Given the description of an element on the screen output the (x, y) to click on. 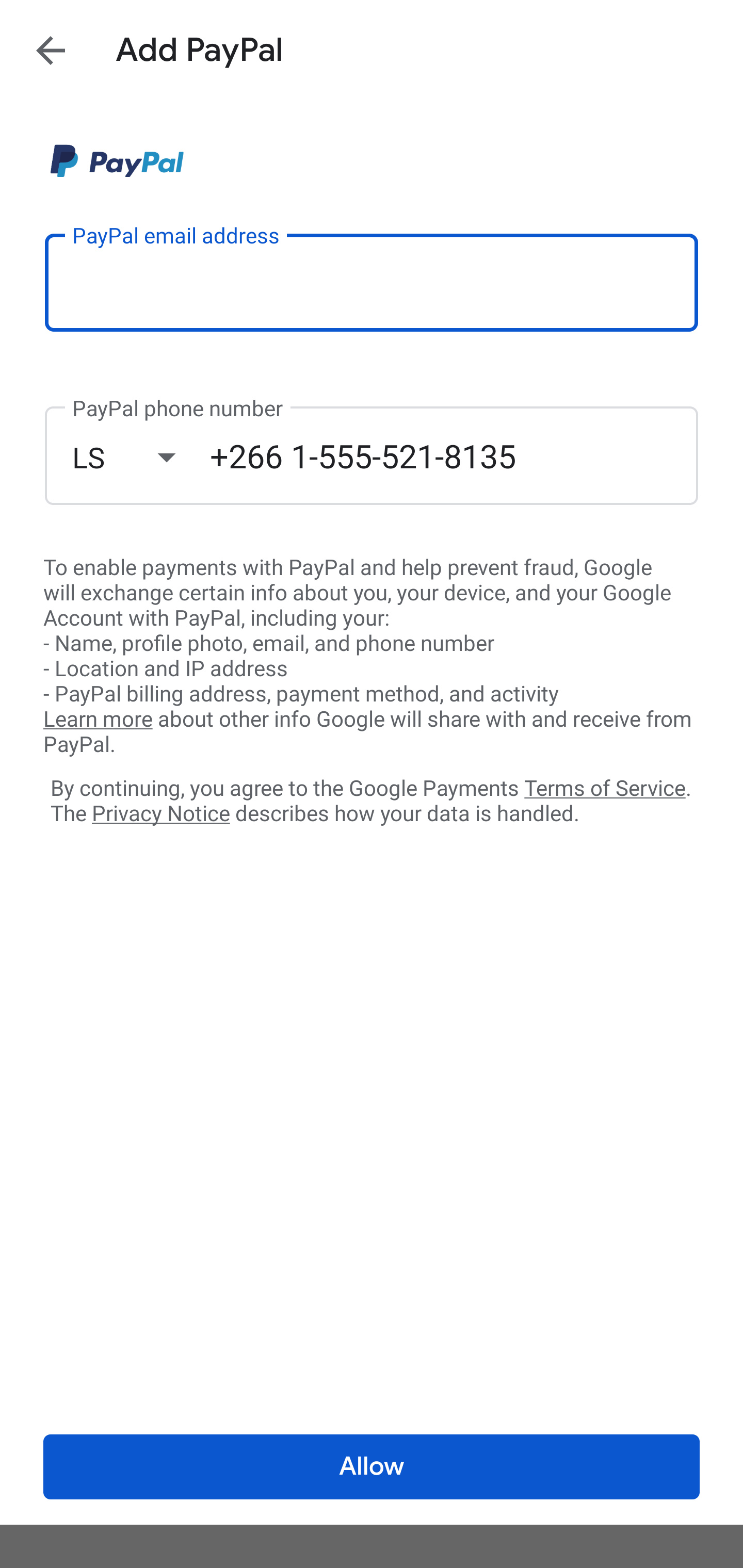
Navigate up (50, 50)
PayPal email address (371, 282)
LS (141, 456)
Learn more (97, 719)
Terms of Service (604, 787)
Privacy Notice (160, 814)
Allow (371, 1466)
